Given the description of an element on the screen output the (x, y) to click on. 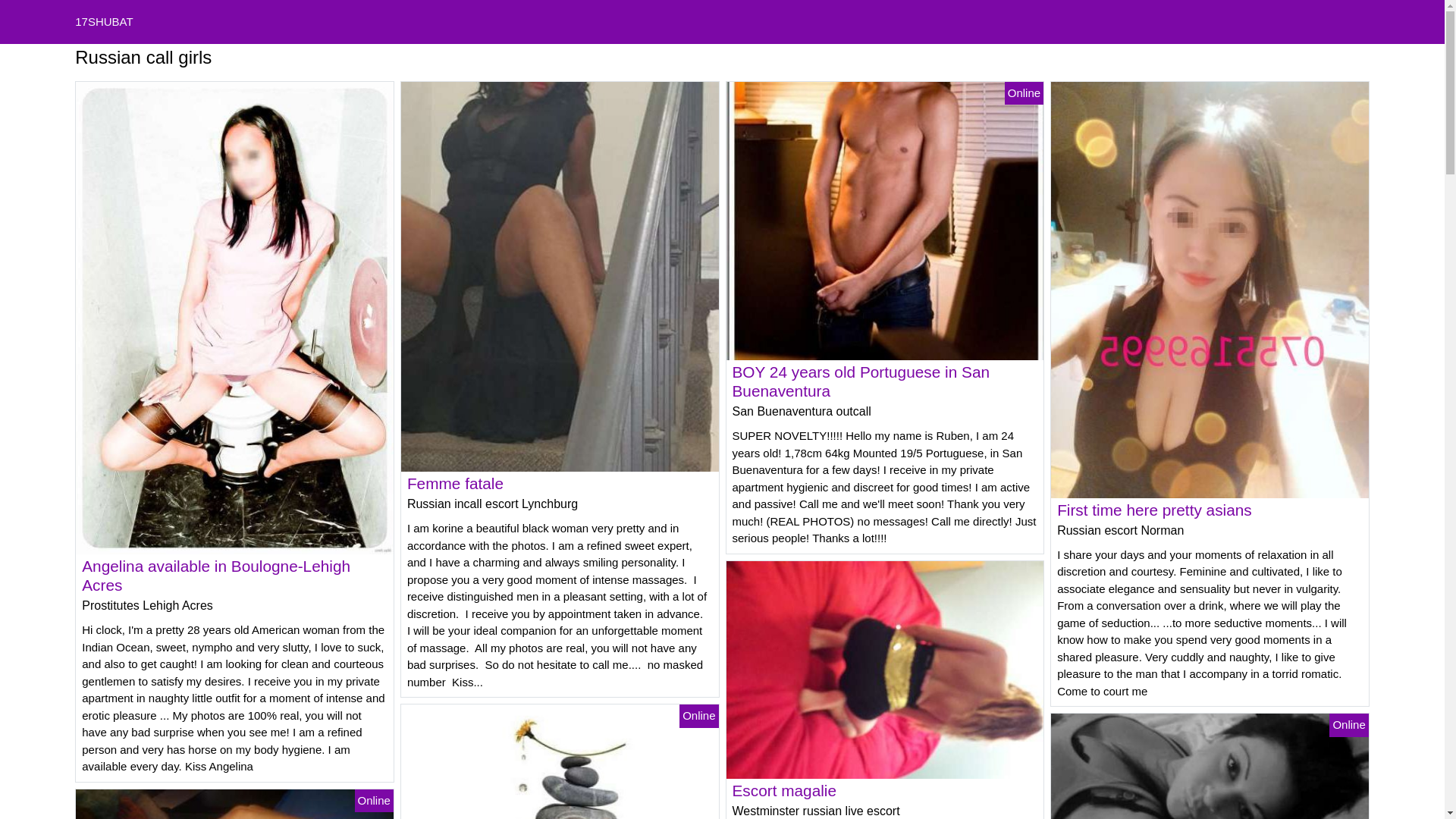
Escort magalie Element type: text (784, 790)
Femme fatale Element type: text (455, 483)
First time here pretty asians Element type: text (1154, 509)
17SHUBAT Element type: text (103, 21)
BOY 24 years old Portuguese in San Buenaventura Element type: text (861, 381)
Angelina available in Boulogne-Lehigh Acres Element type: text (215, 575)
